Given the description of an element on the screen output the (x, y) to click on. 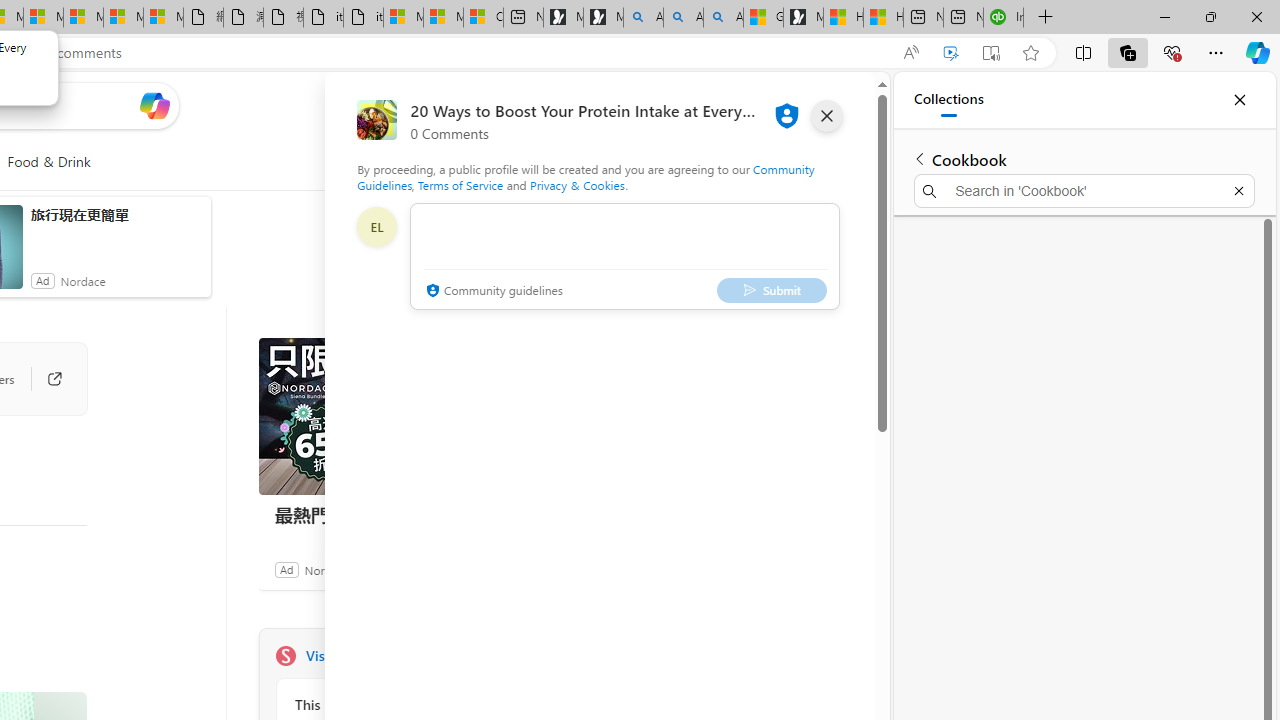
Ad Choice (535, 569)
Consumer Health Data Privacy Policy (483, 17)
Enter Immersive Reader (F9) (991, 53)
Open settings (830, 105)
Back to list of collections (920, 158)
Alabama high school quarterback dies - Search (643, 17)
Notifications (790, 105)
Privacy & Cookies (577, 184)
close (827, 115)
Profile Picture (376, 226)
